Given the description of an element on the screen output the (x, y) to click on. 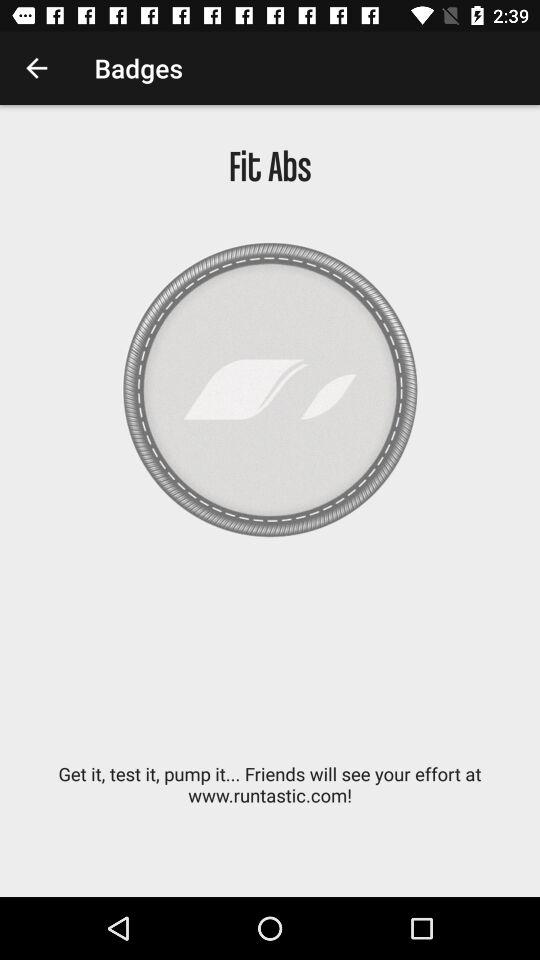
turn off the icon above the fit abs (36, 68)
